Given the description of an element on the screen output the (x, y) to click on. 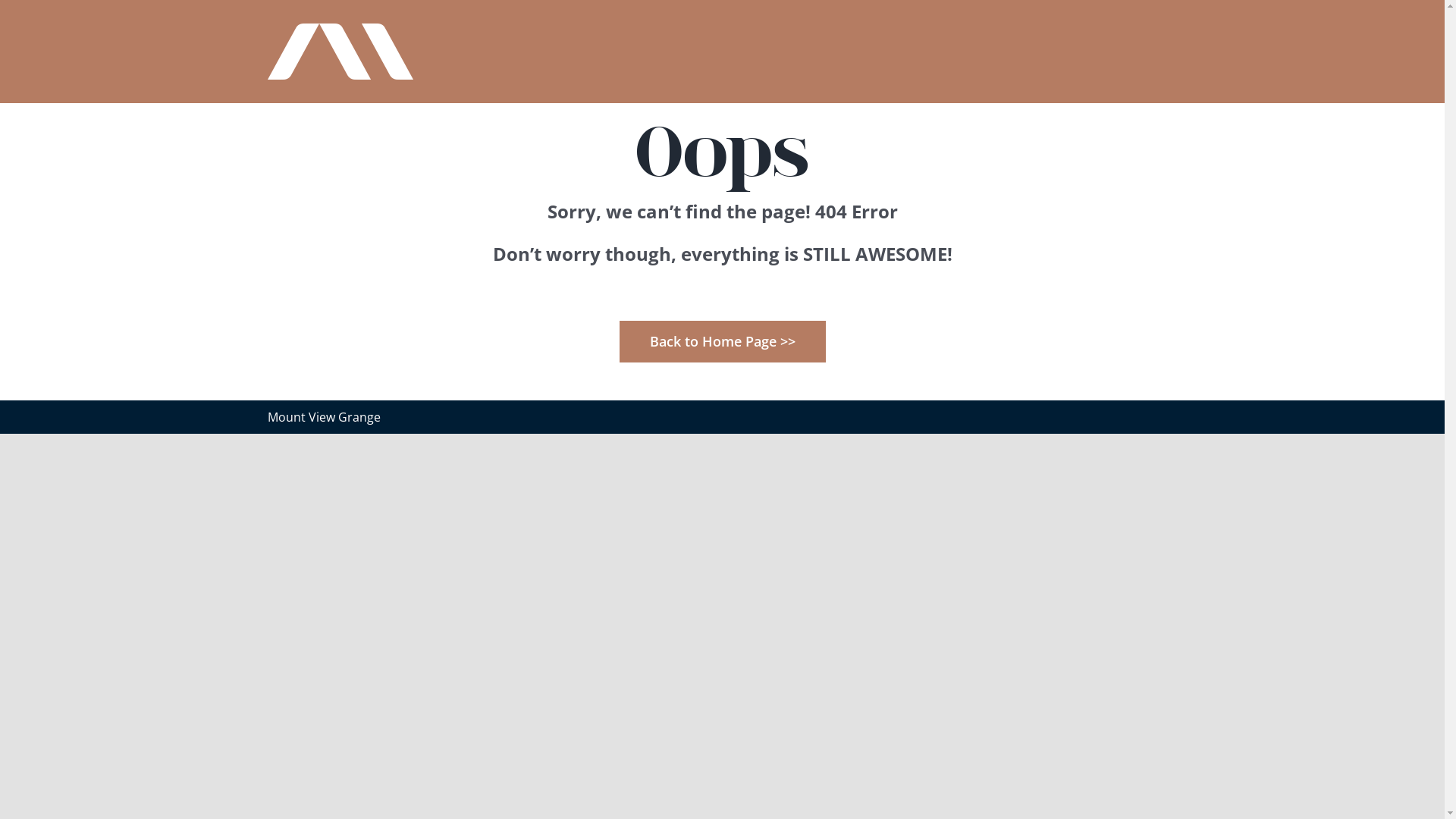
Back to Home Page >> Element type: text (721, 340)
